Given the description of an element on the screen output the (x, y) to click on. 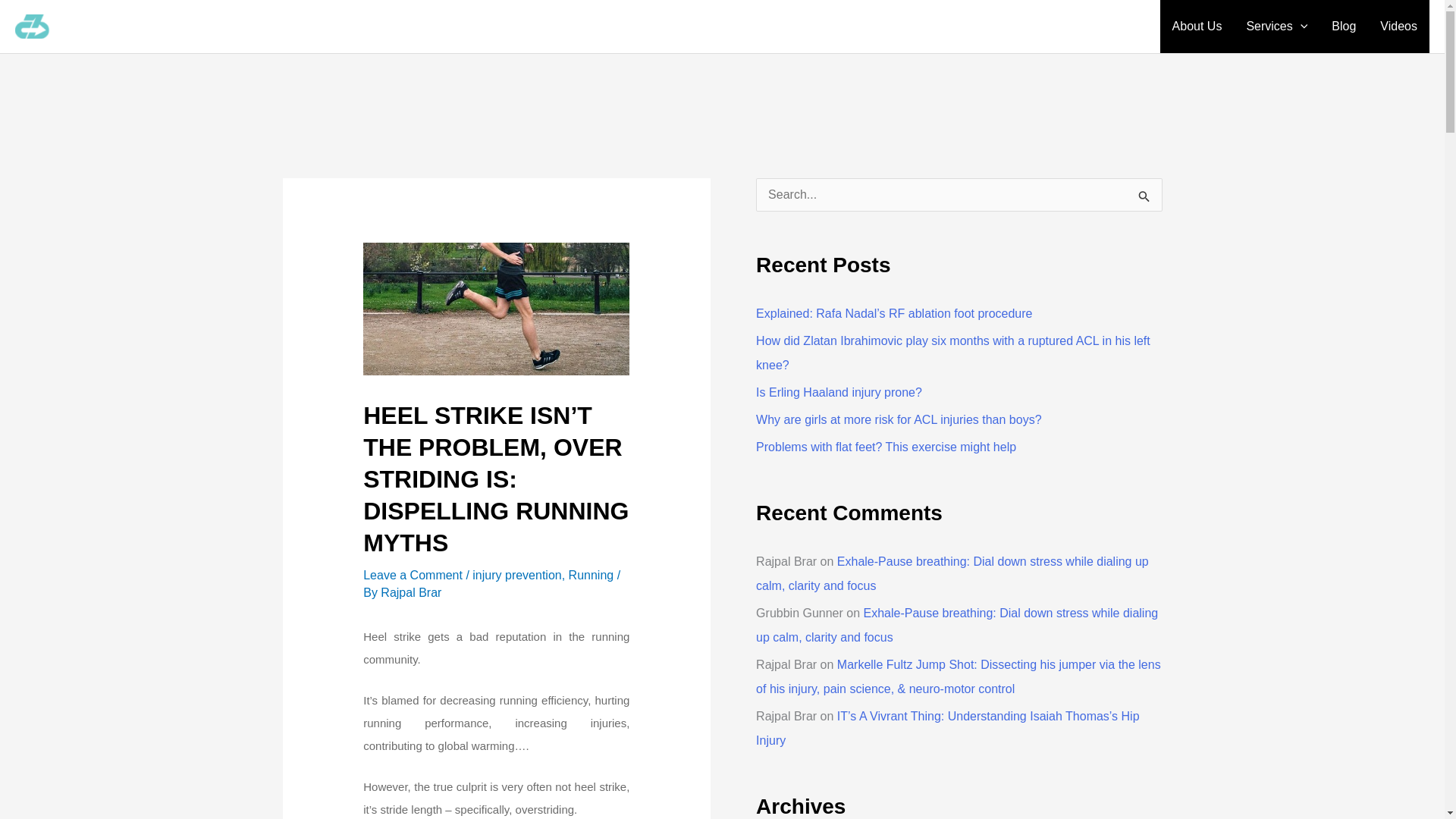
Leave a Comment (412, 574)
Rajpal Brar (410, 592)
injury prevention (515, 574)
Running (591, 574)
Blog (1343, 26)
Services (1276, 26)
View all posts by Rajpal Brar (410, 592)
About Us (1197, 26)
Videos (1398, 26)
